Given the description of an element on the screen output the (x, y) to click on. 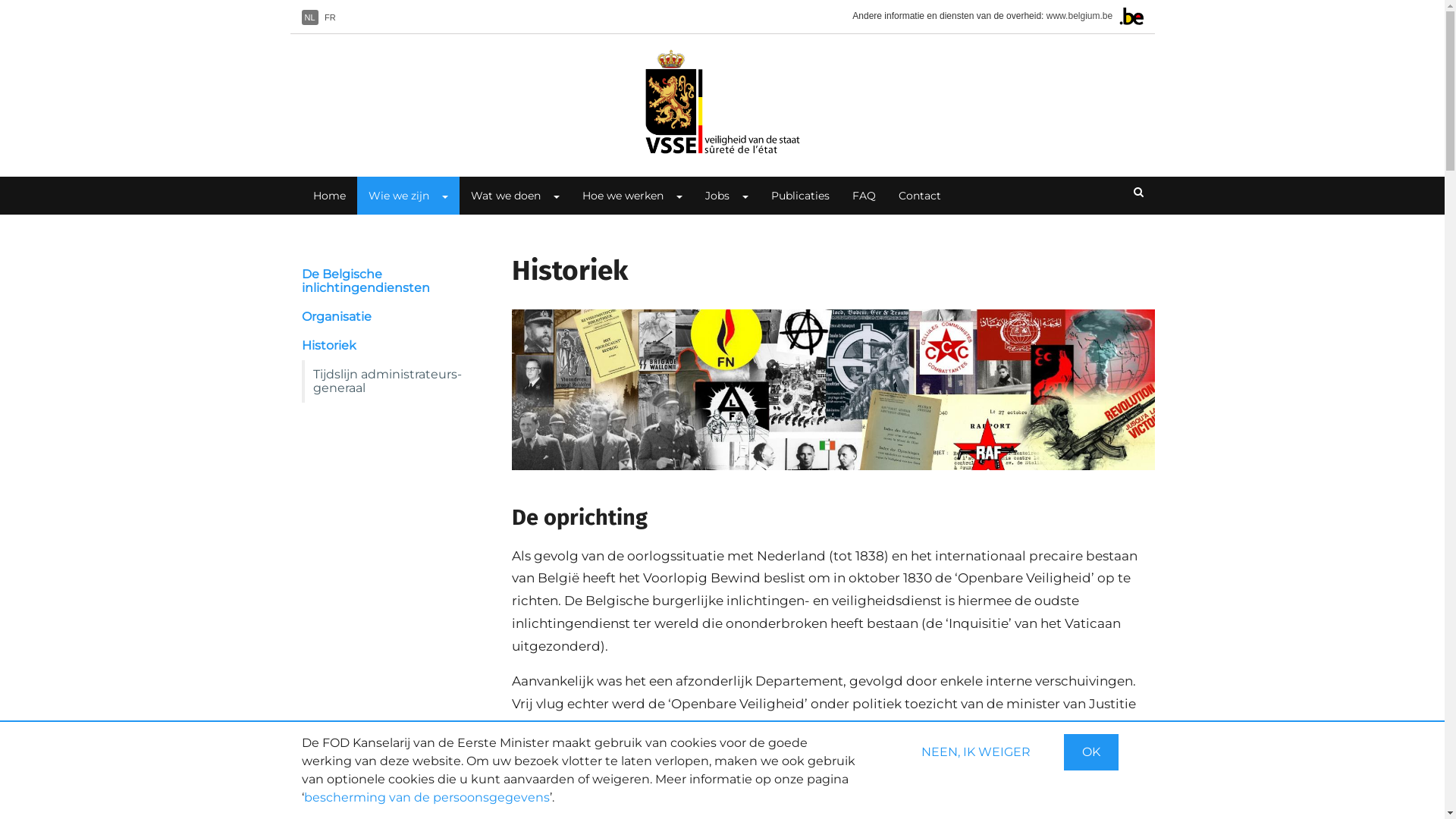
De Belgische inlichtingendiensten Element type: text (389, 281)
Wat we doen Element type: text (499, 195)
Publicaties Element type: text (799, 195)
FAQ Element type: text (863, 195)
Open Hoe we werken Submenu Element type: text (677, 195)
OK Element type: text (1090, 752)
Jobs Element type: text (710, 195)
Zoeken Element type: text (1138, 192)
NEEN, IK WEIGER Element type: text (975, 752)
NL Element type: text (309, 17)
www.belgium.be Element type: text (1079, 15)
Wie we zijn Element type: text (392, 195)
Open Wat we doen Submenu Element type: text (554, 195)
Contact Element type: text (919, 195)
FR Element type: text (329, 17)
Hoe we werken Element type: text (616, 195)
Open Wie we zijn Submenu Element type: text (444, 195)
bescherming van de persoonsgegevens Element type: text (426, 797)
Open Jobs Submenu Element type: text (744, 195)
Home Element type: text (329, 195)
Historiek Element type: text (389, 345)
Tijdslijn administrateurs-generaal Element type: text (395, 381)
Home Element type: hover (721, 101)
Overslaan en naar de inhoud gaan Element type: text (0, 0)
Organisatie Element type: text (389, 316)
